Given the description of an element on the screen output the (x, y) to click on. 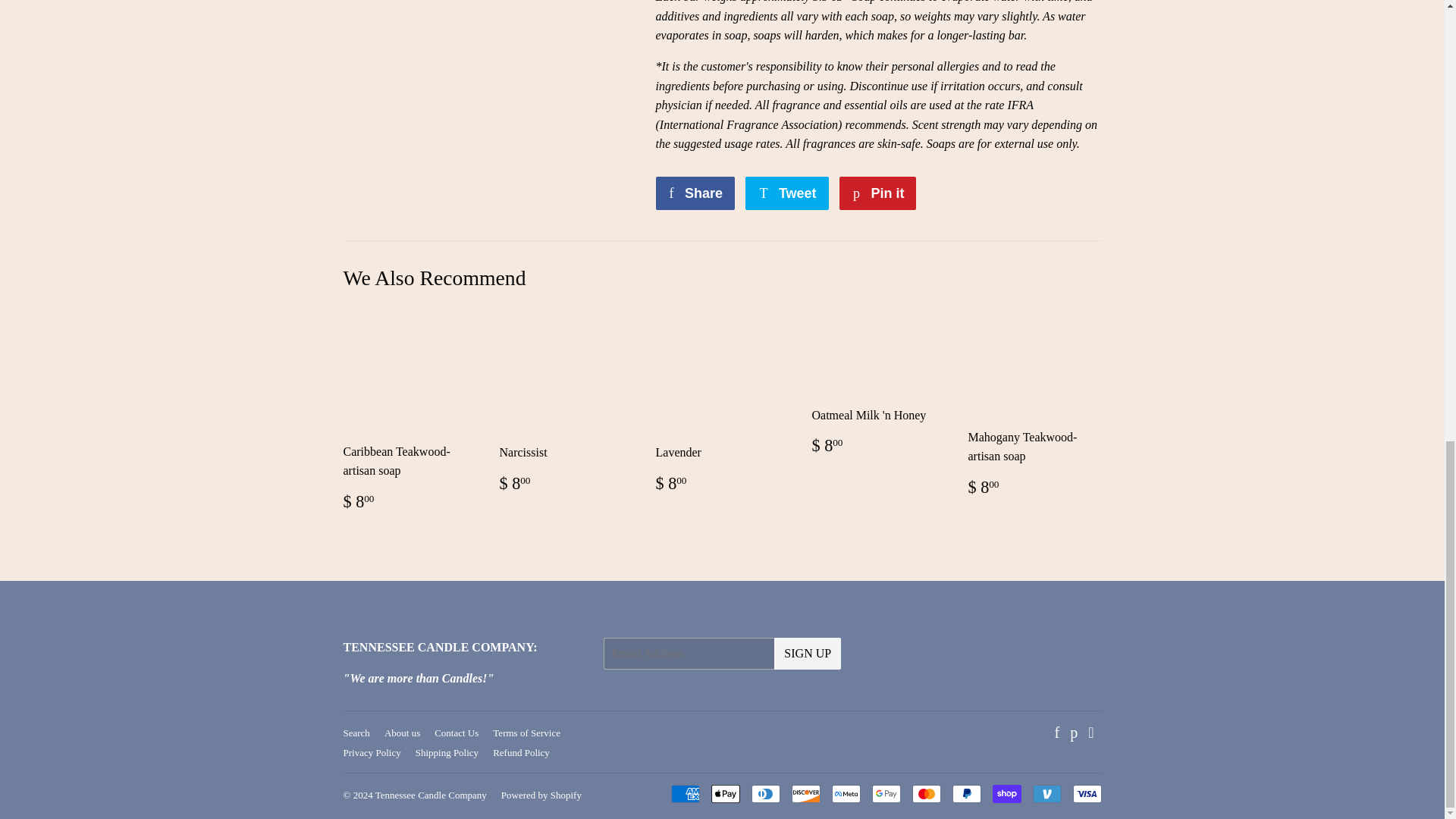
Visa (1085, 793)
American Express (683, 793)
Shop Pay (1005, 793)
Pin on Pinterest (877, 192)
Discover (806, 793)
Google Pay (886, 793)
Meta Pay (845, 793)
Venmo (1046, 793)
PayPal (966, 793)
Diners Club (764, 793)
Mastercard (925, 793)
Tweet on Twitter (786, 192)
Apple Pay (725, 793)
Share on Facebook (694, 192)
